Given the description of an element on the screen output the (x, y) to click on. 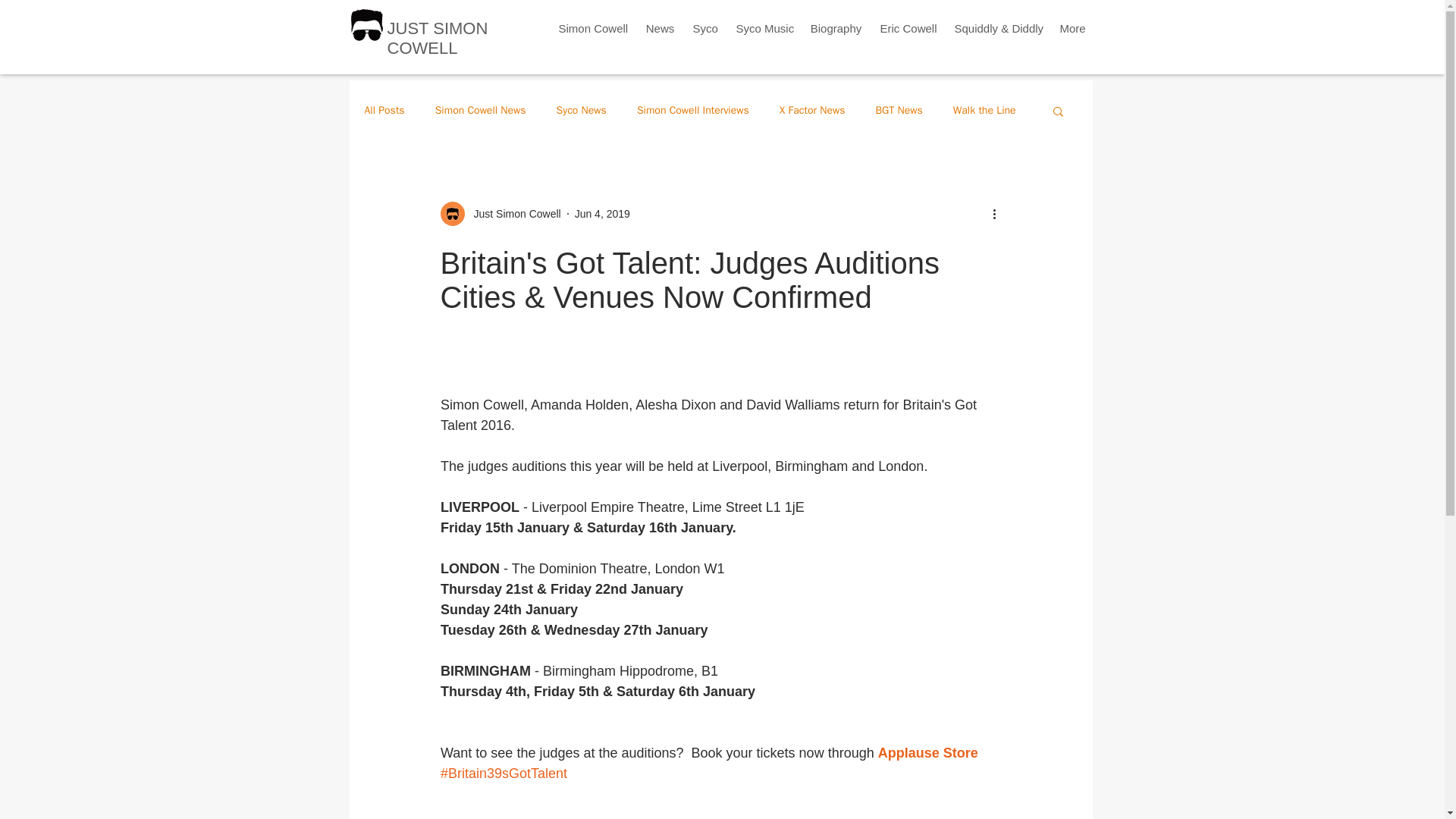
All Posts (384, 110)
Biography (835, 27)
Syco (705, 27)
X Factor News (811, 110)
Simon Cowell (592, 27)
Just Simon Cowell (512, 213)
BGT News (898, 110)
Applause Store (926, 752)
Jun 4, 2019 (602, 214)
Simon Cowell News (480, 110)
JUST SIMON COWELL (437, 37)
News (660, 27)
Syco News (581, 110)
Eric Cowell (907, 27)
Simon Cowell Interviews (693, 110)
